Given the description of an element on the screen output the (x, y) to click on. 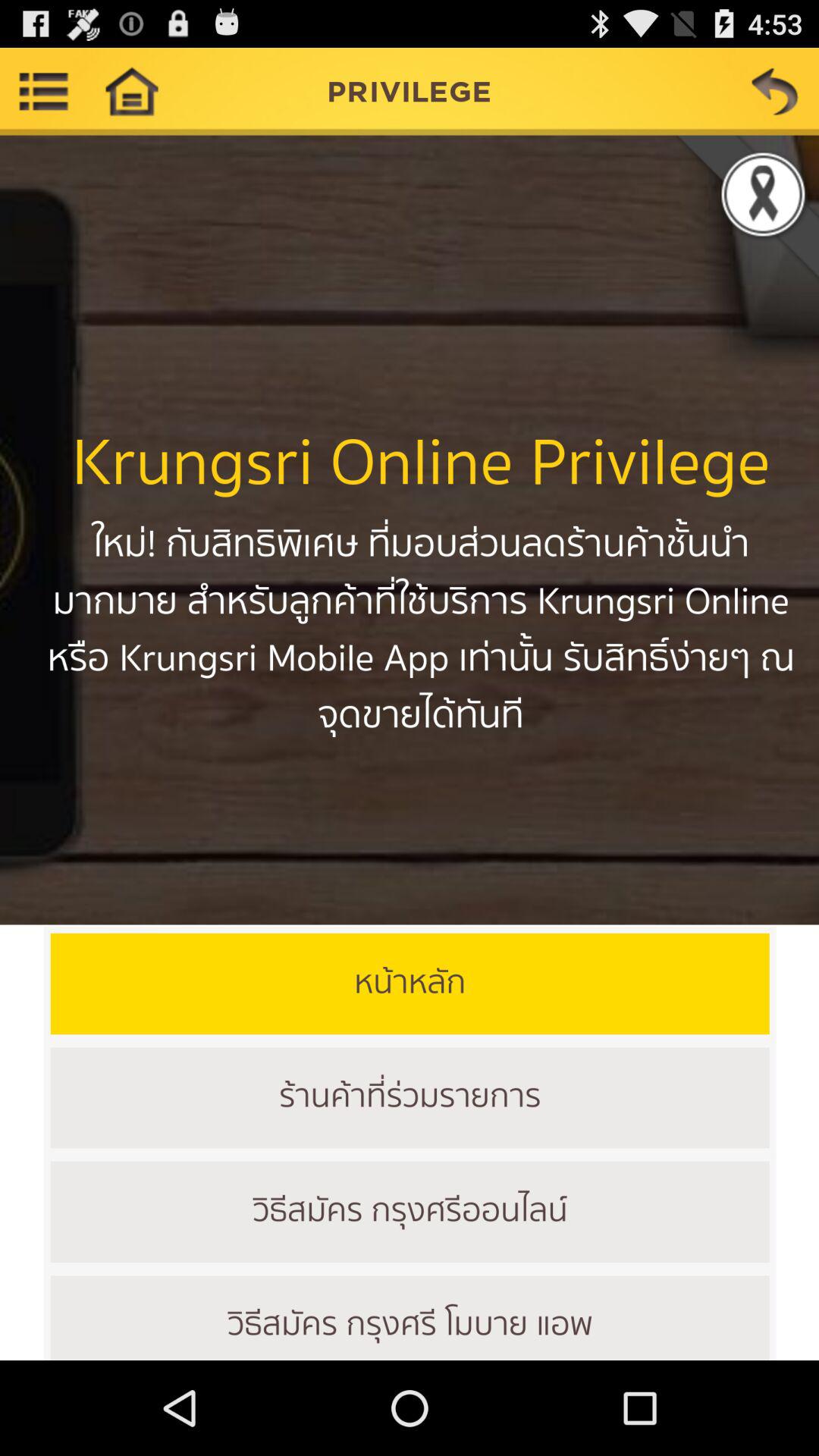
go to home page (131, 91)
